Given the description of an element on the screen output the (x, y) to click on. 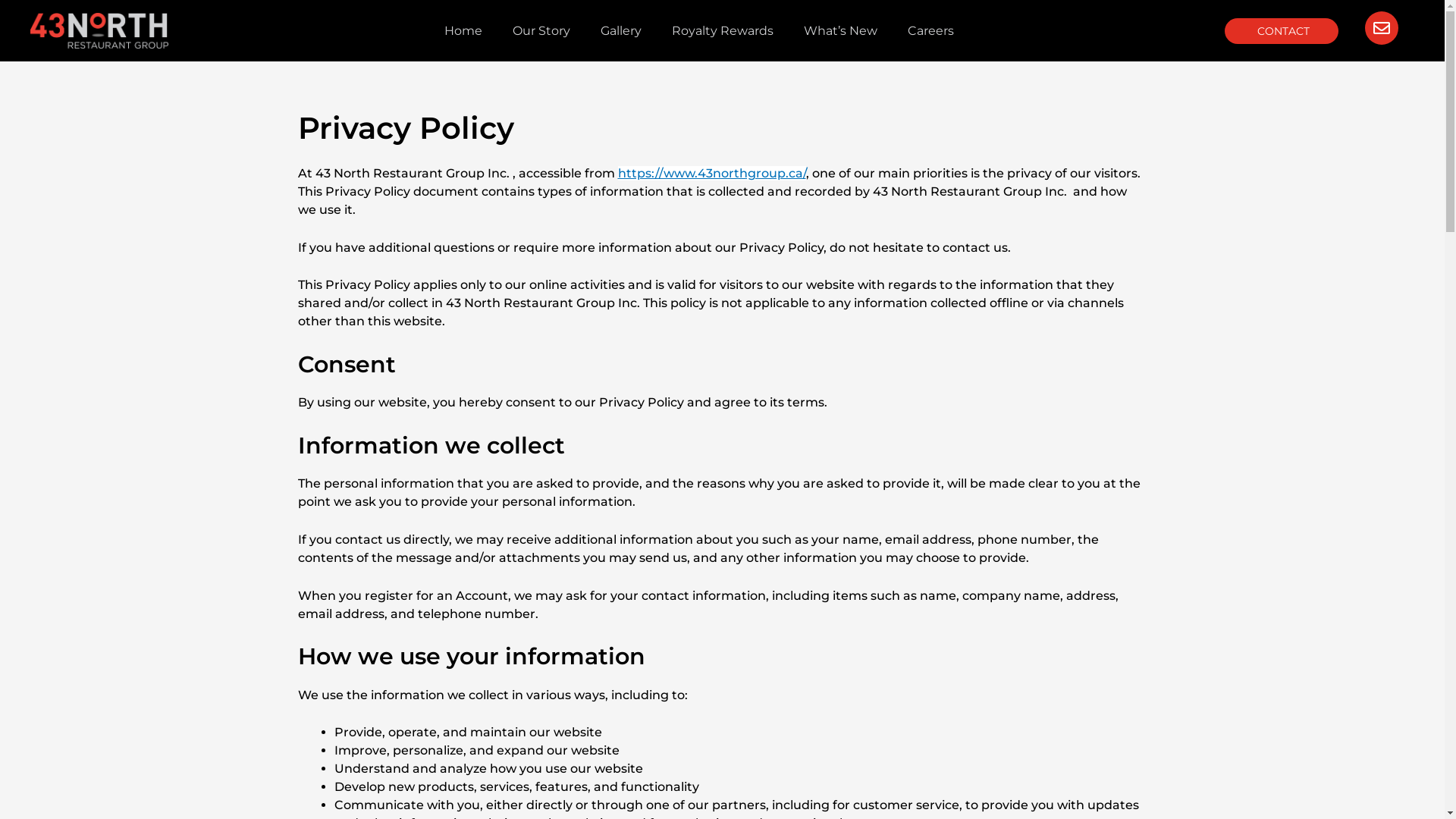
https://www.43northgroup.ca/ Element type: text (711, 173)
Royalty Rewards Element type: text (722, 30)
43north_logo Element type: hover (99, 30)
Our Story Element type: text (541, 30)
Gallery Element type: text (620, 30)
Careers Element type: text (930, 30)
Home Element type: text (463, 30)
CONTACT Element type: text (1281, 30)
